Given the description of an element on the screen output the (x, y) to click on. 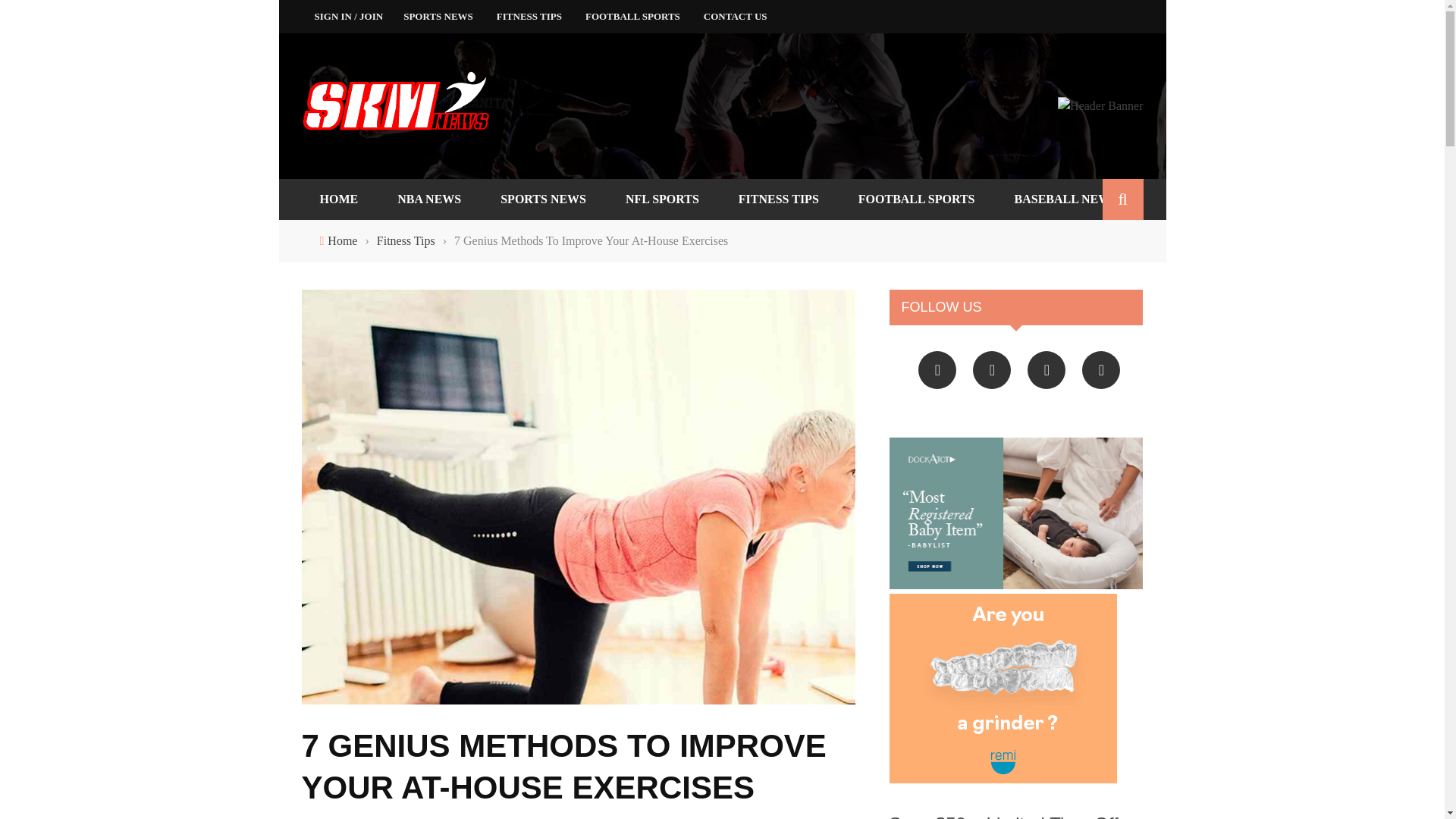
FOOTBALL SPORTS (916, 198)
NBA NEWS (428, 198)
Fitness Tips (406, 240)
CONTACT US (735, 16)
SPORTS NEWS (542, 198)
FOOTBALL SPORTS (632, 16)
BASEBALL NEWS (1065, 198)
Home (341, 240)
SPORTS NEWS (438, 16)
FITNESS TIPS (778, 198)
NFL SPORTS (662, 198)
HOME (339, 198)
FITNESS TIPS (529, 16)
